Given the description of an element on the screen output the (x, y) to click on. 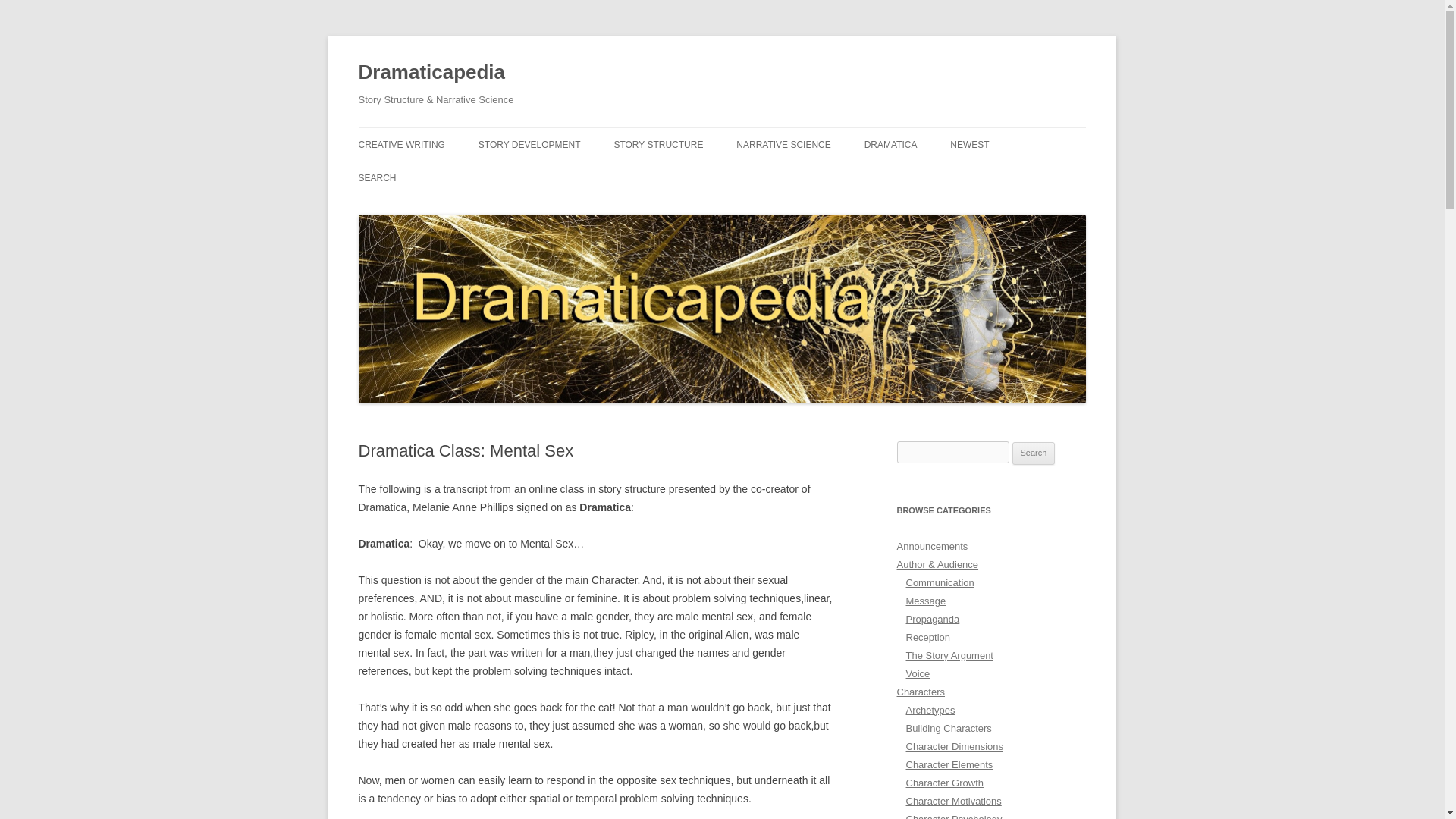
Search (1033, 453)
NEWEST (969, 144)
DRAMATICA (890, 144)
MOST POPULAR ARTICLES (940, 176)
Dramaticapedia (431, 72)
CREATIVE WRITING (401, 144)
STORY STRUCTURE (657, 144)
Search (1033, 453)
MOST POPULAR ARTICLES (812, 176)
